Given the description of an element on the screen output the (x, y) to click on. 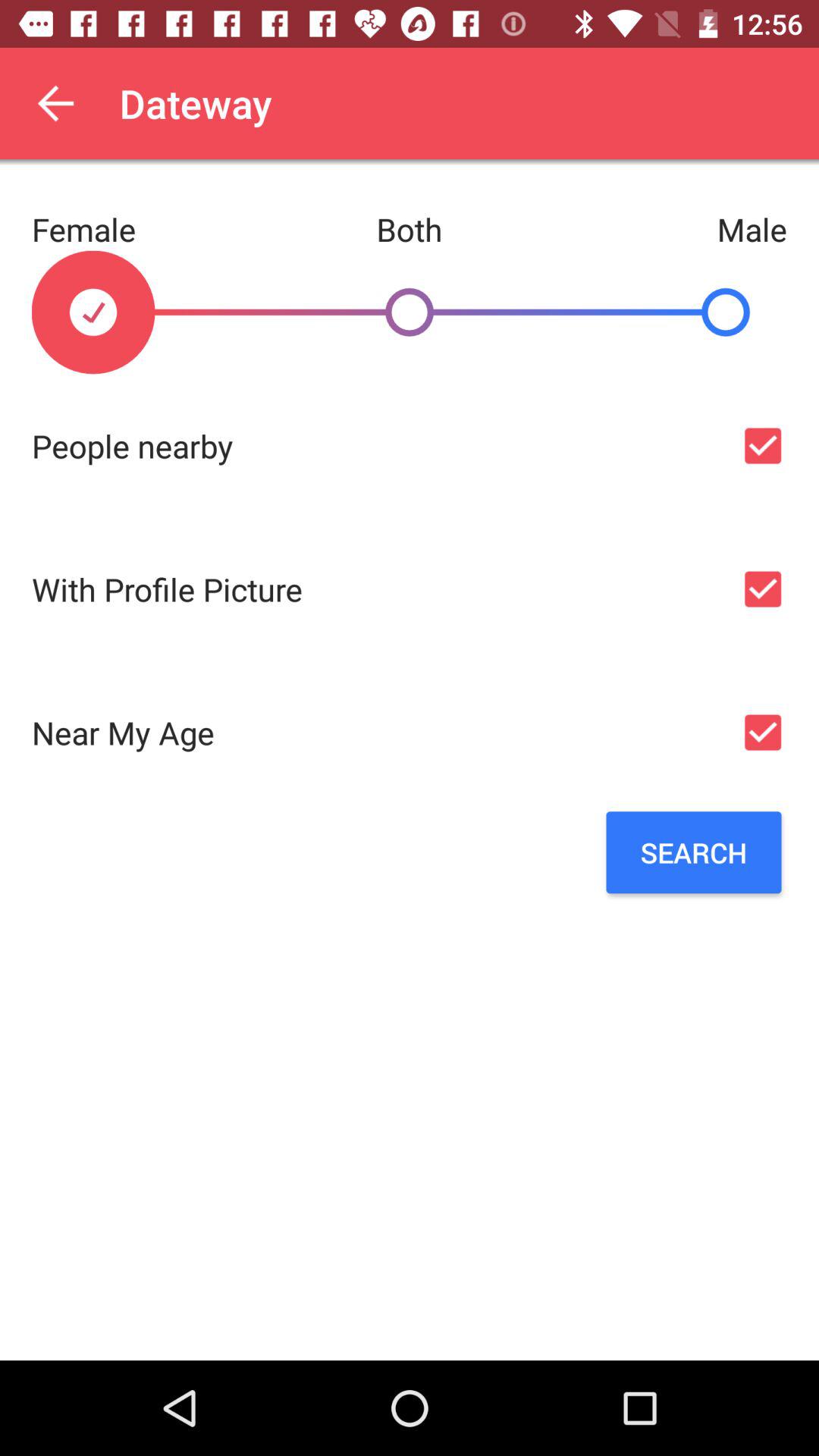
select the item next to the dateway app (55, 103)
